Given the description of an element on the screen output the (x, y) to click on. 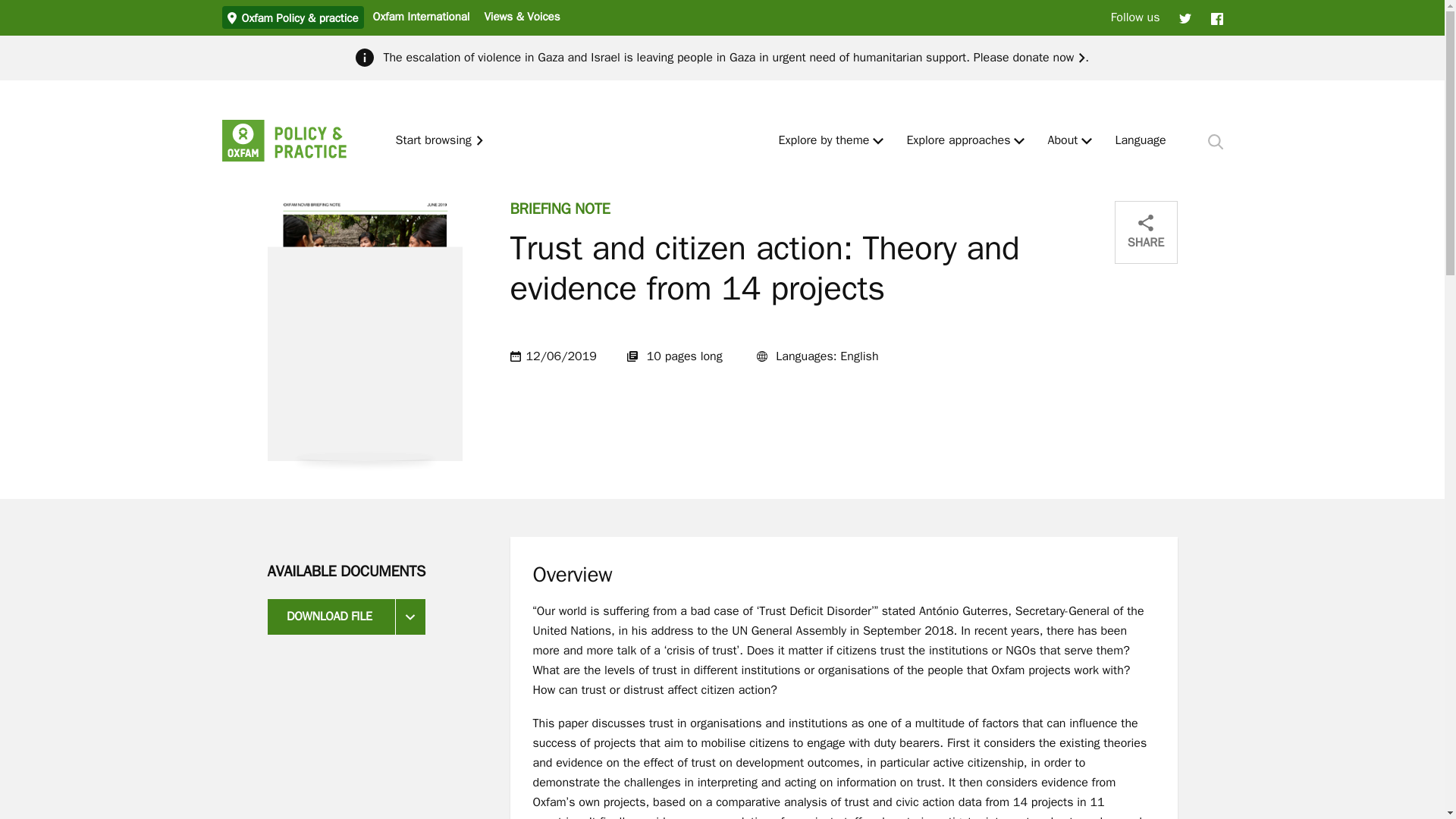
donate now (1047, 57)
Skip to content (11, 5)
Menu toggle (1086, 141)
Explore by theme (823, 140)
Explore approaches (957, 140)
Oxfam International (420, 16)
Twitter (1184, 17)
English (1140, 140)
Search (1215, 140)
Start browsing (439, 140)
